Given the description of an element on the screen output the (x, y) to click on. 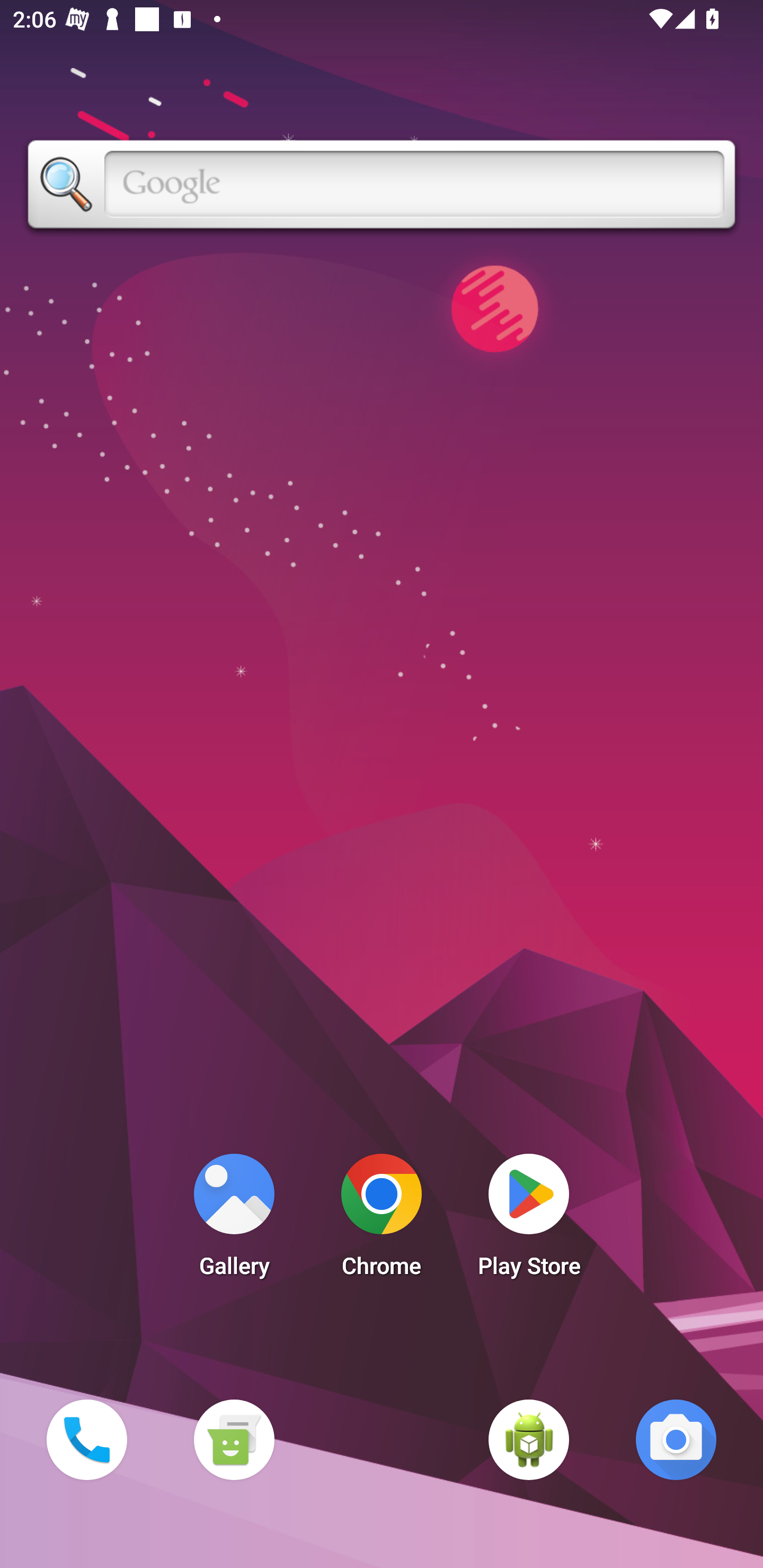
Gallery (233, 1220)
Chrome (381, 1220)
Play Store (528, 1220)
Phone (86, 1439)
Messaging (233, 1439)
WebView Browser Tester (528, 1439)
Camera (676, 1439)
